Given the description of an element on the screen output the (x, y) to click on. 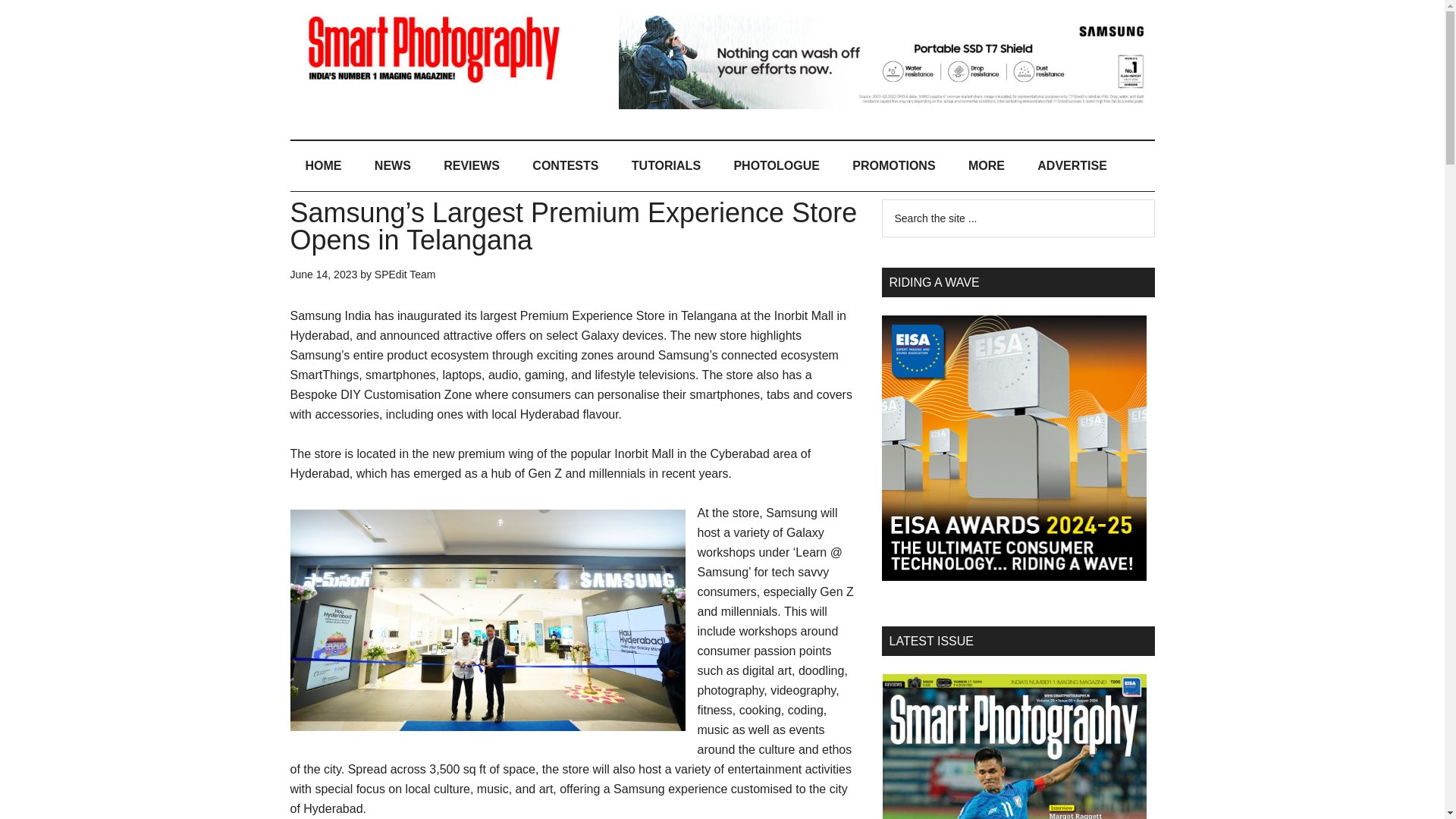
PROMOTIONS (893, 165)
TUTORIALS (665, 165)
CONTESTS (564, 165)
PHOTOLOGUE (775, 165)
HOME (322, 165)
NEWS (392, 165)
MORE (986, 165)
SPEdit Team (404, 274)
ADVERTISE (1072, 165)
